Given the description of an element on the screen output the (x, y) to click on. 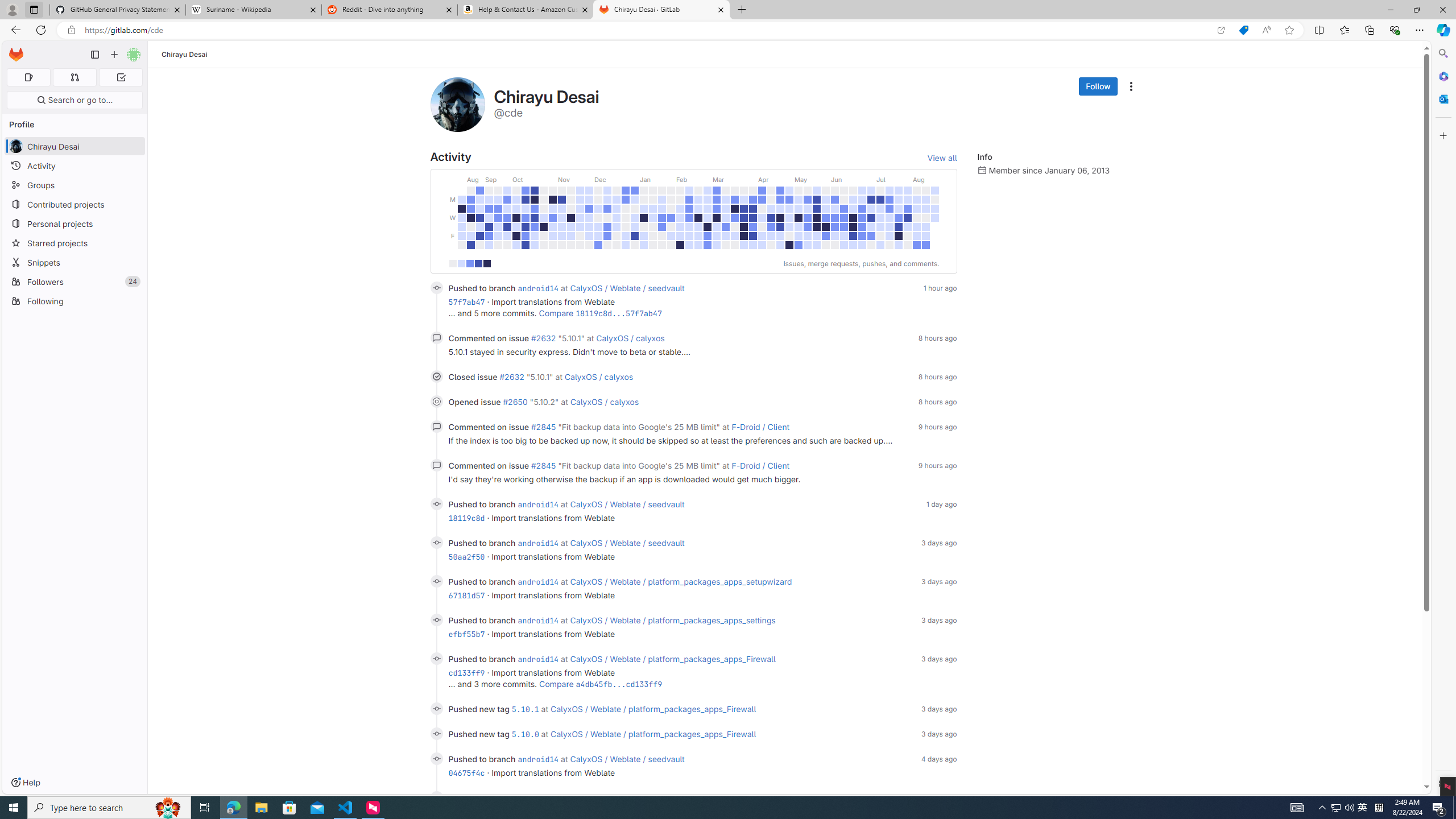
Activity (74, 165)
